Given the description of an element on the screen output the (x, y) to click on. 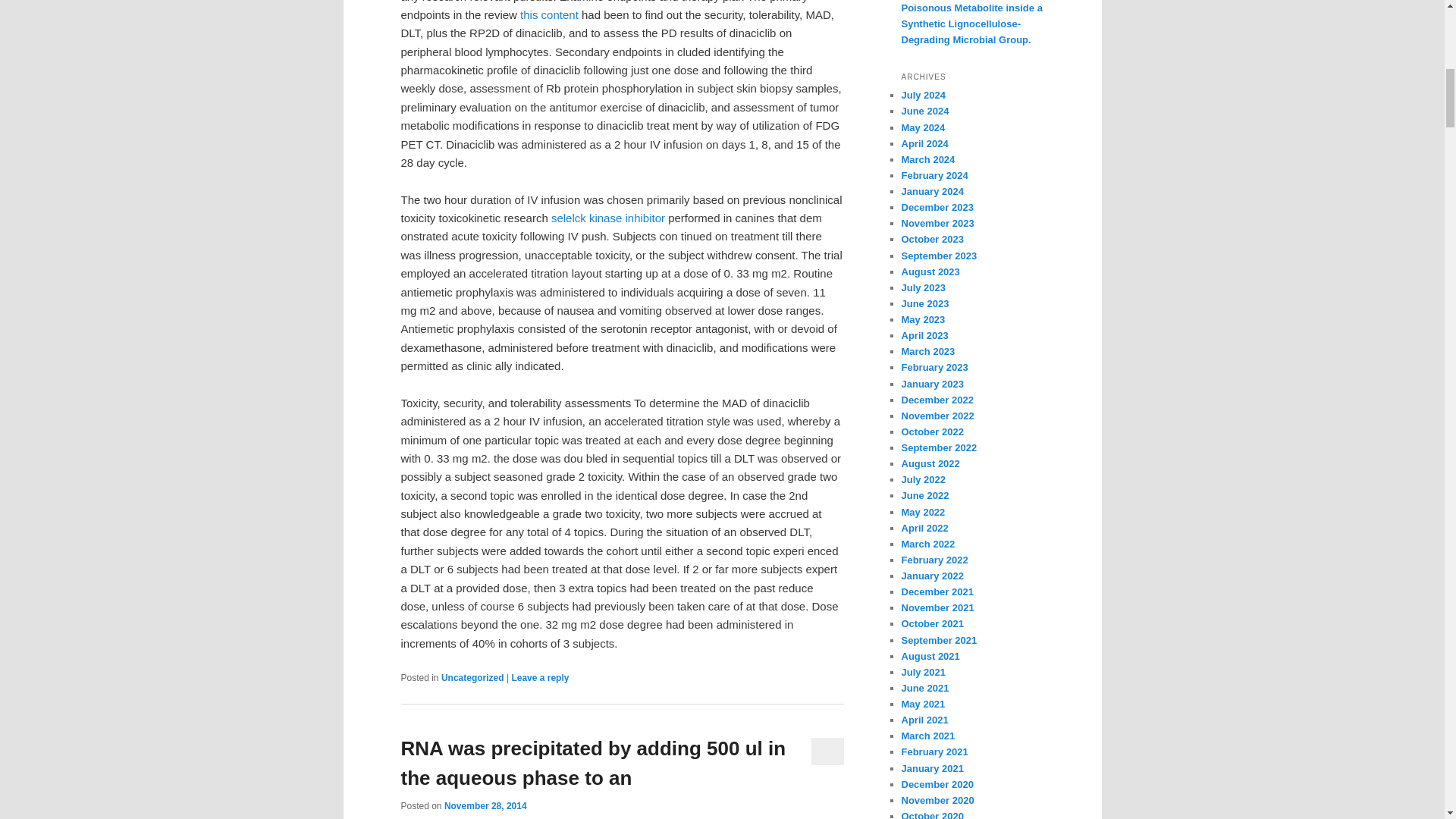
3:18 am (485, 805)
selelck kinase inhibitor (608, 217)
Uncategorized (472, 677)
Leave a reply (540, 677)
View all posts in Uncategorized (472, 677)
this content (548, 14)
November 28, 2014 (485, 805)
